Given the description of an element on the screen output the (x, y) to click on. 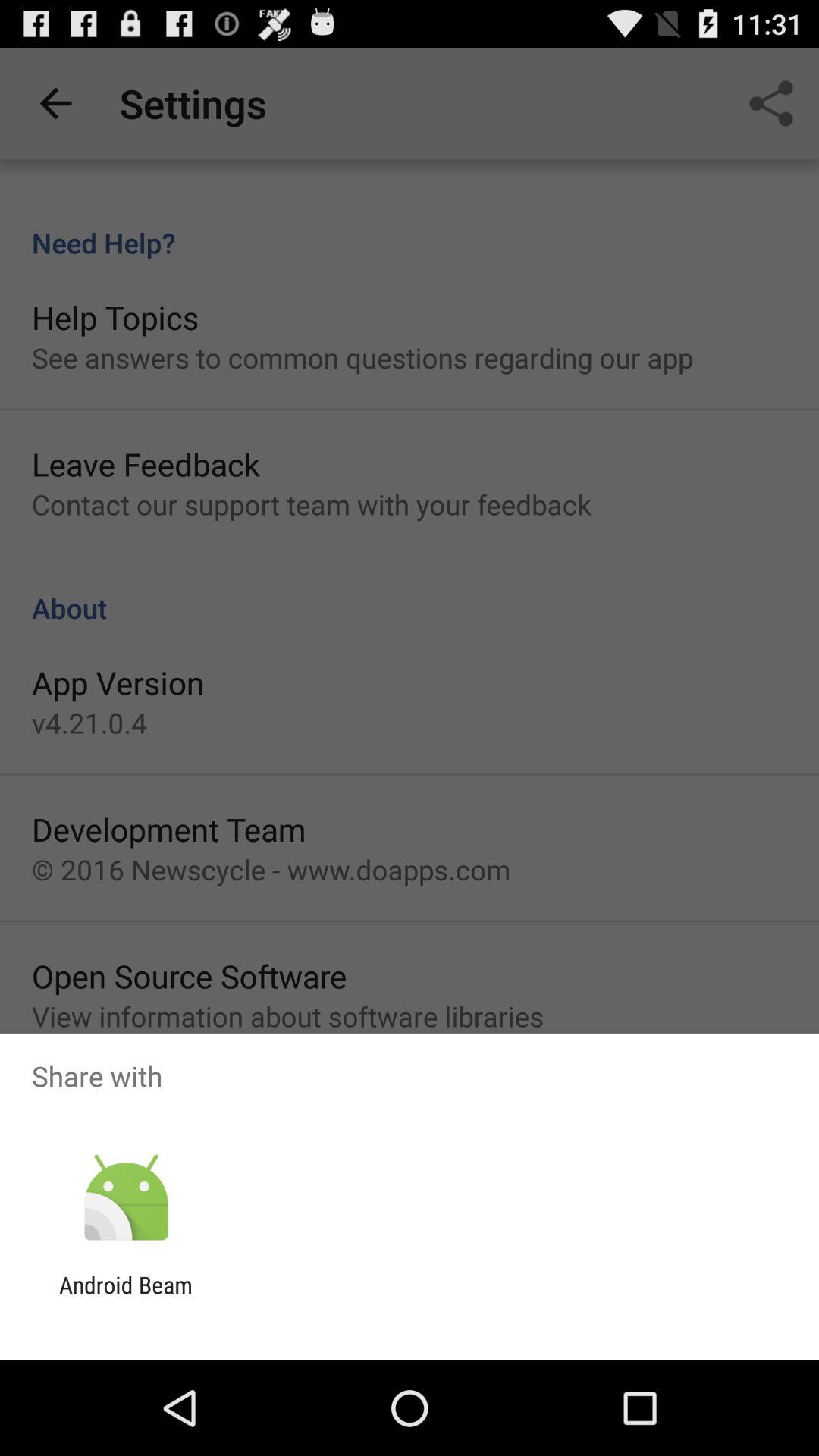
jump to android beam app (125, 1298)
